Given the description of an element on the screen output the (x, y) to click on. 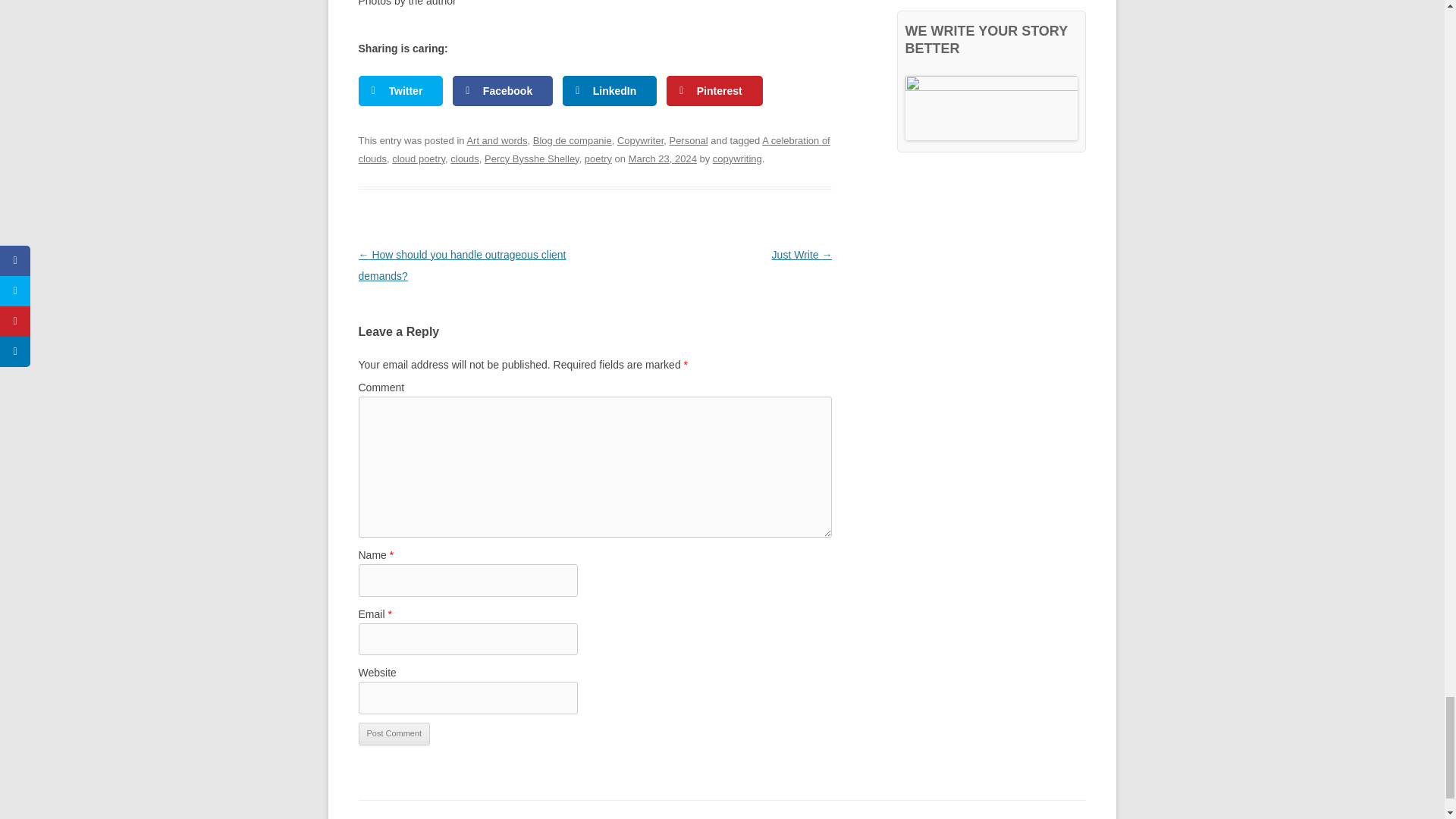
Percy Bysshe Shelley (531, 158)
Post Comment (393, 733)
A celebration of clouds (593, 149)
Copywriter (640, 140)
poetry (598, 158)
cloud poetry (418, 158)
LinkedIn (610, 91)
Twitter (400, 91)
March 23, 2024 (662, 158)
Blog de companie (571, 140)
Post Comment (393, 733)
clouds (464, 158)
Facebook (502, 91)
copywriting (737, 158)
Pinterest (714, 91)
